Given the description of an element on the screen output the (x, y) to click on. 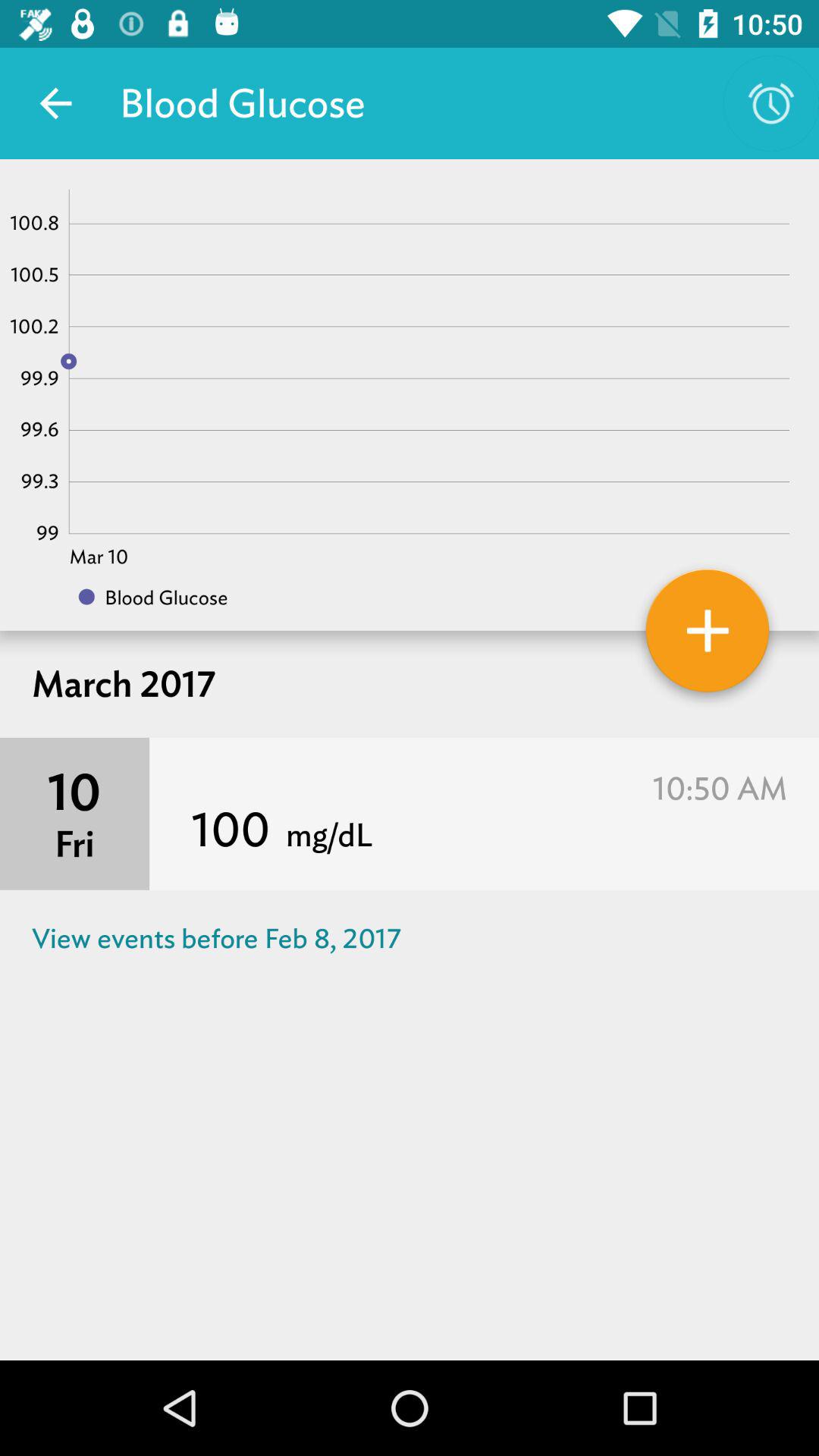
return to previous screen (55, 103)
